Given the description of an element on the screen output the (x, y) to click on. 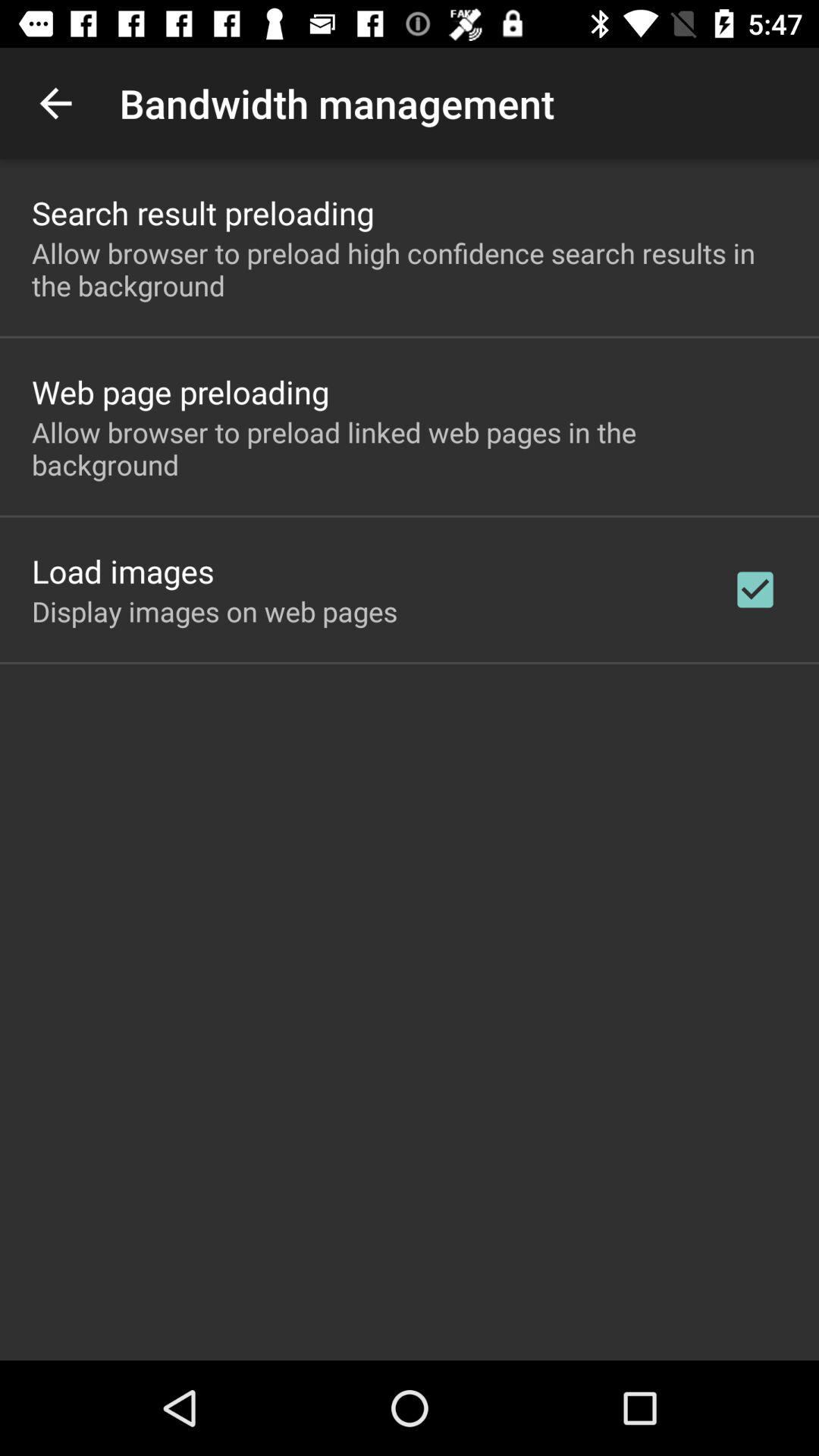
choose icon next to the display images on icon (755, 589)
